Given the description of an element on the screen output the (x, y) to click on. 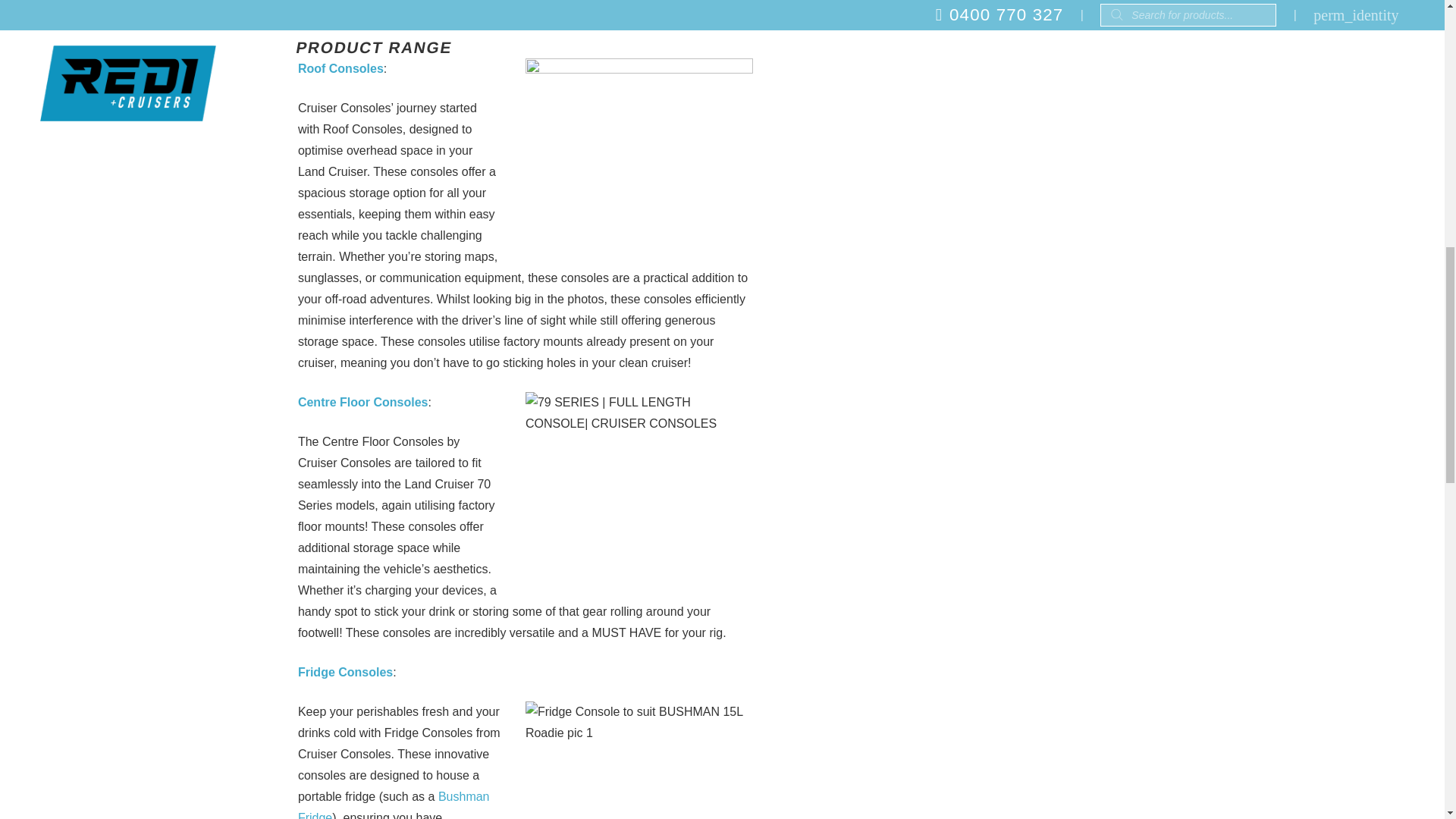
Back to top (1413, 30)
